Given the description of an element on the screen output the (x, y) to click on. 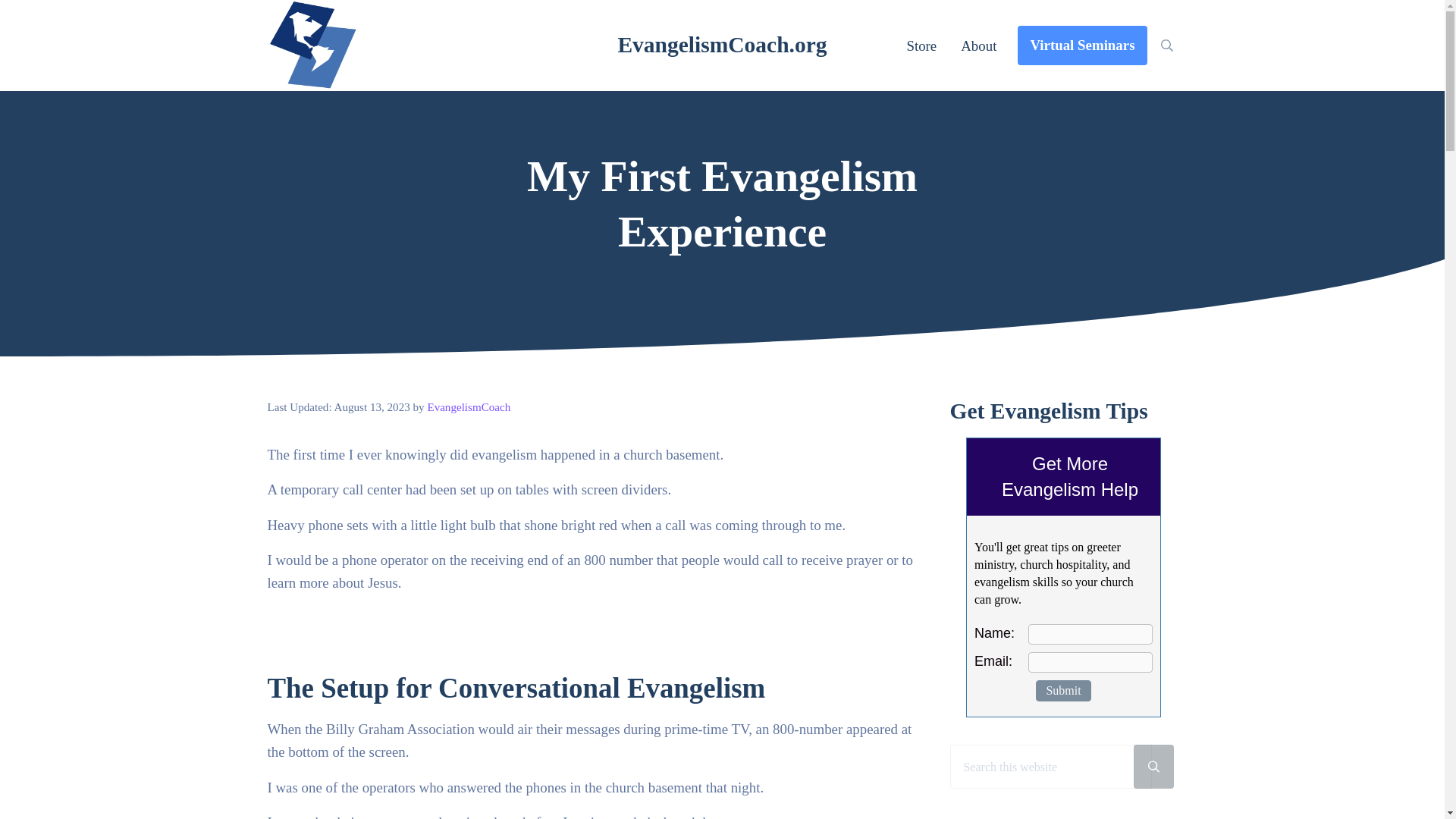
Store (921, 45)
Virtual Seminars (1082, 45)
EvangelismCoach (468, 407)
EvangelismCoach.org (722, 44)
About (979, 45)
Submit (1062, 690)
